Given the description of an element on the screen output the (x, y) to click on. 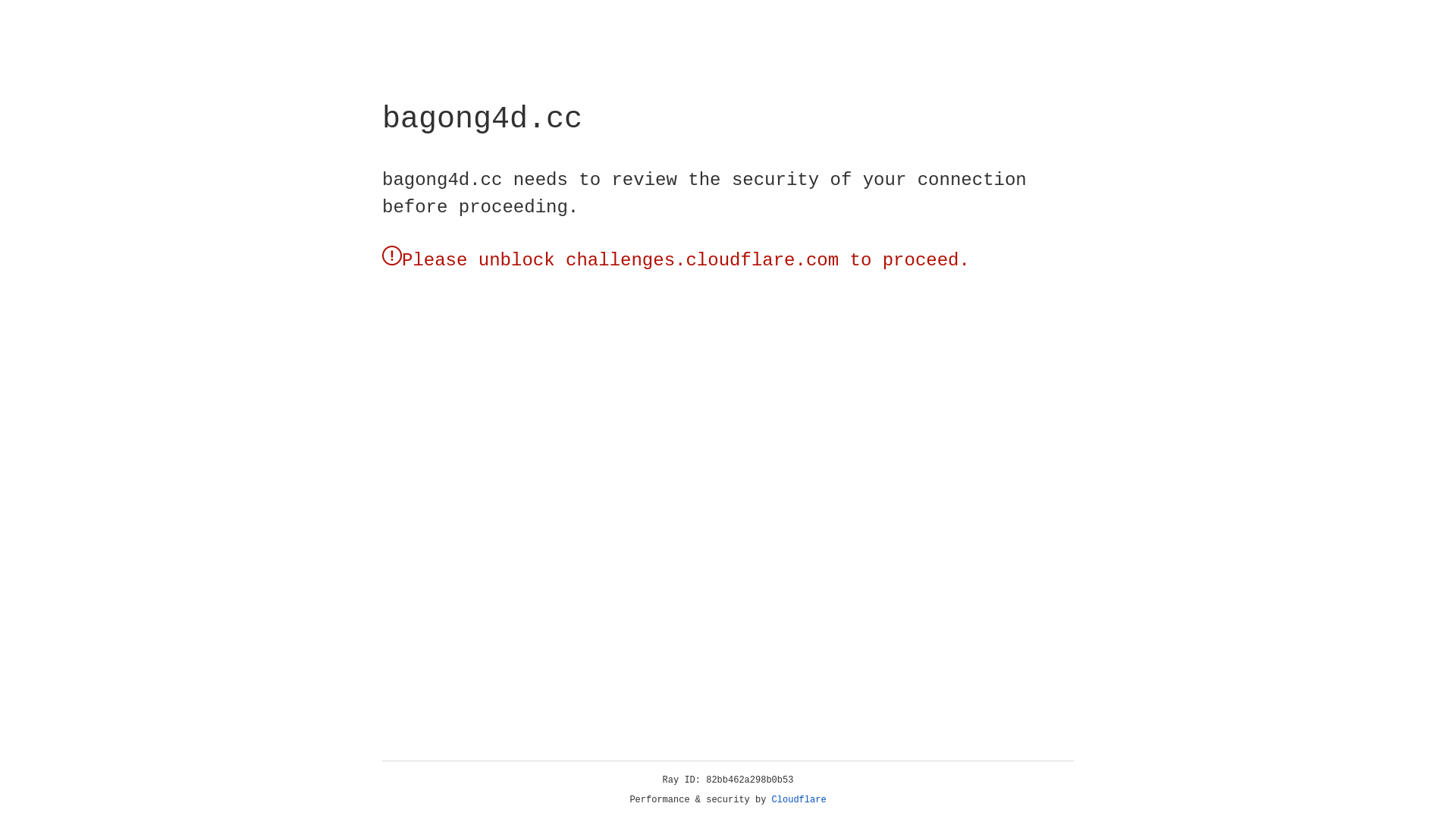
Cloudflare Element type: text (798, 799)
